Given the description of an element on the screen output the (x, y) to click on. 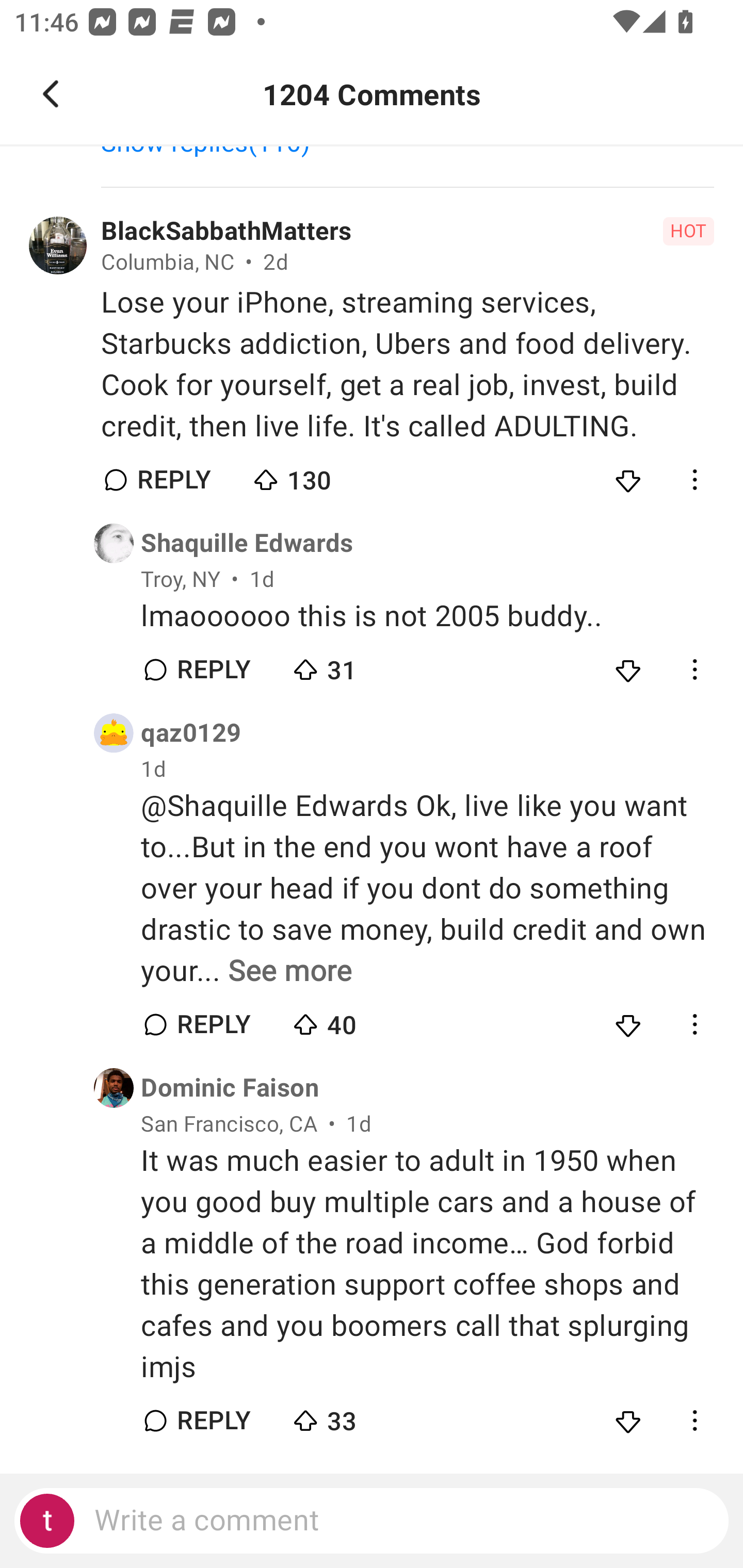
Navigate up (50, 93)
BlackSabbathMatters (226, 231)
130 (320, 475)
REPLY (173, 480)
Shaquille Edwards (247, 543)
lmaoooooo this is not 2005 buddy.. (427, 615)
31 (360, 665)
REPLY (213, 670)
qaz0129 (191, 732)
40 (360, 1019)
REPLY (213, 1024)
Dominic Faison (230, 1088)
33 (360, 1416)
REPLY (213, 1421)
Write a comment (371, 1520)
